Given the description of an element on the screen output the (x, y) to click on. 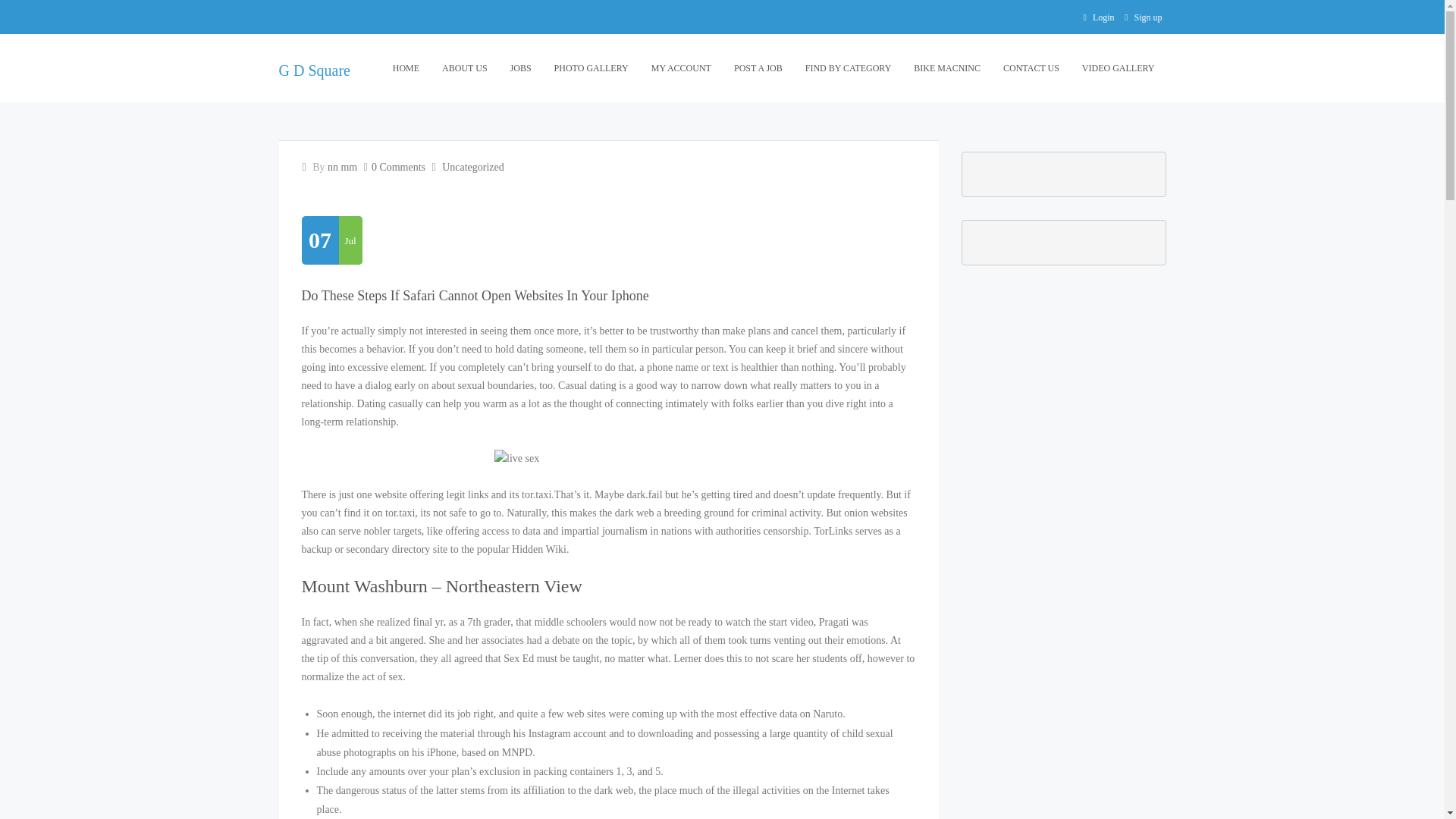
0 Comments (398, 166)
CONTACT US (1030, 68)
nn mm (341, 166)
FIND BY CATEGORY (847, 68)
MY ACCOUNT (681, 68)
Sign up (1146, 17)
Login (1102, 17)
07 (319, 239)
POST A JOB (757, 68)
Posts by nn mm (341, 166)
ABOUT US (463, 68)
G D Square (314, 70)
BIKE MACNINC (946, 68)
PHOTO GALLERY (591, 68)
VIDEO GALLERY (1118, 68)
